Given the description of an element on the screen output the (x, y) to click on. 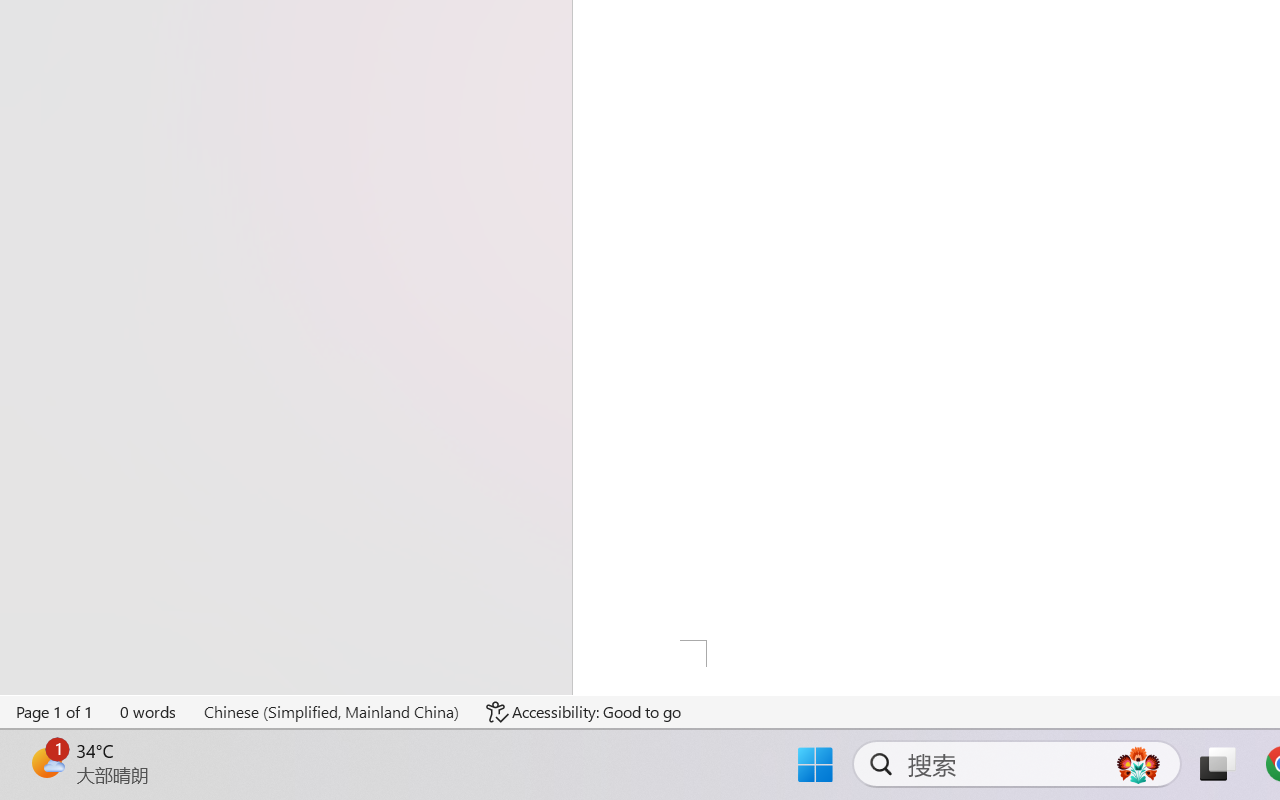
AutomationID: DynamicSearchBoxGleamImage (1138, 764)
Page Number Page 1 of 1 (55, 712)
AutomationID: BadgeAnchorLargeTicker (46, 762)
Accessibility Checker Accessibility: Good to go (583, 712)
Word Count 0 words (149, 712)
Language Chinese (Simplified, Mainland China) (331, 712)
